Given the description of an element on the screen output the (x, y) to click on. 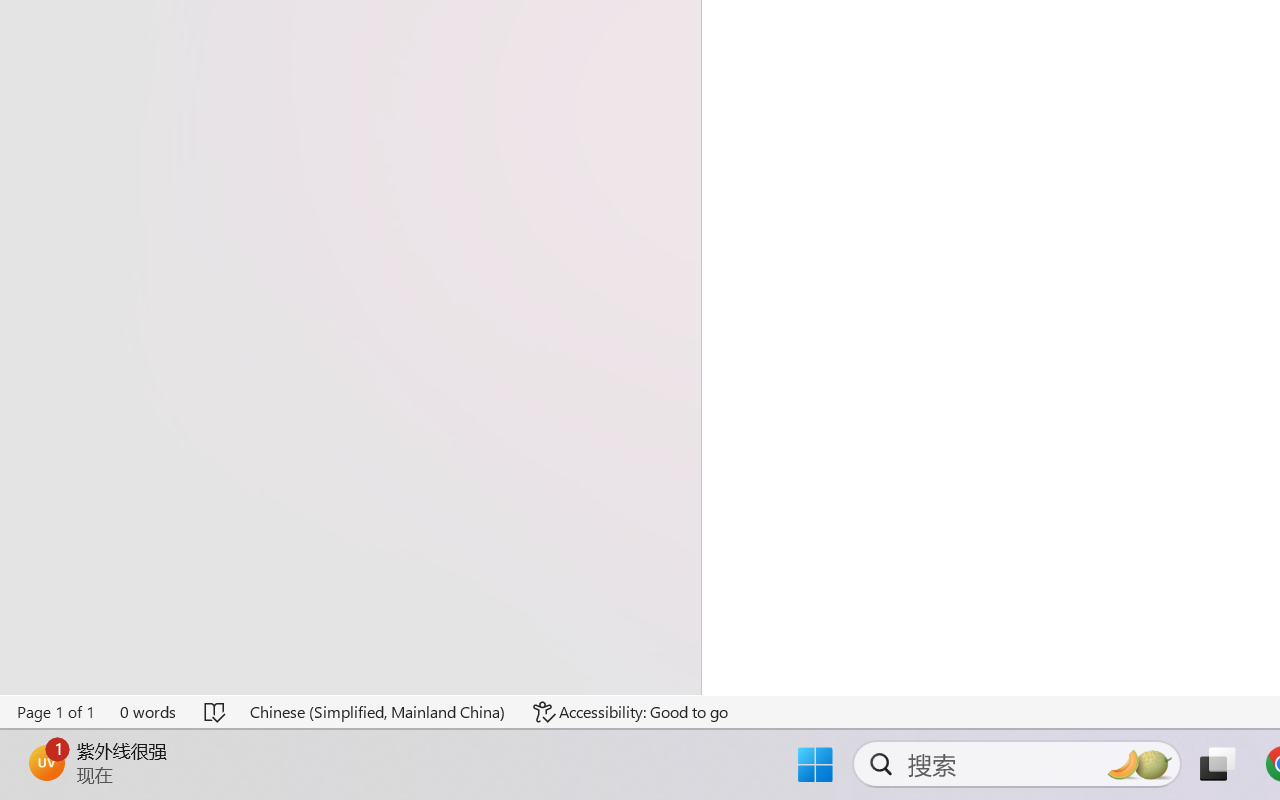
Language Chinese (Simplified, Mainland China) (378, 712)
